Given the description of an element on the screen output the (x, y) to click on. 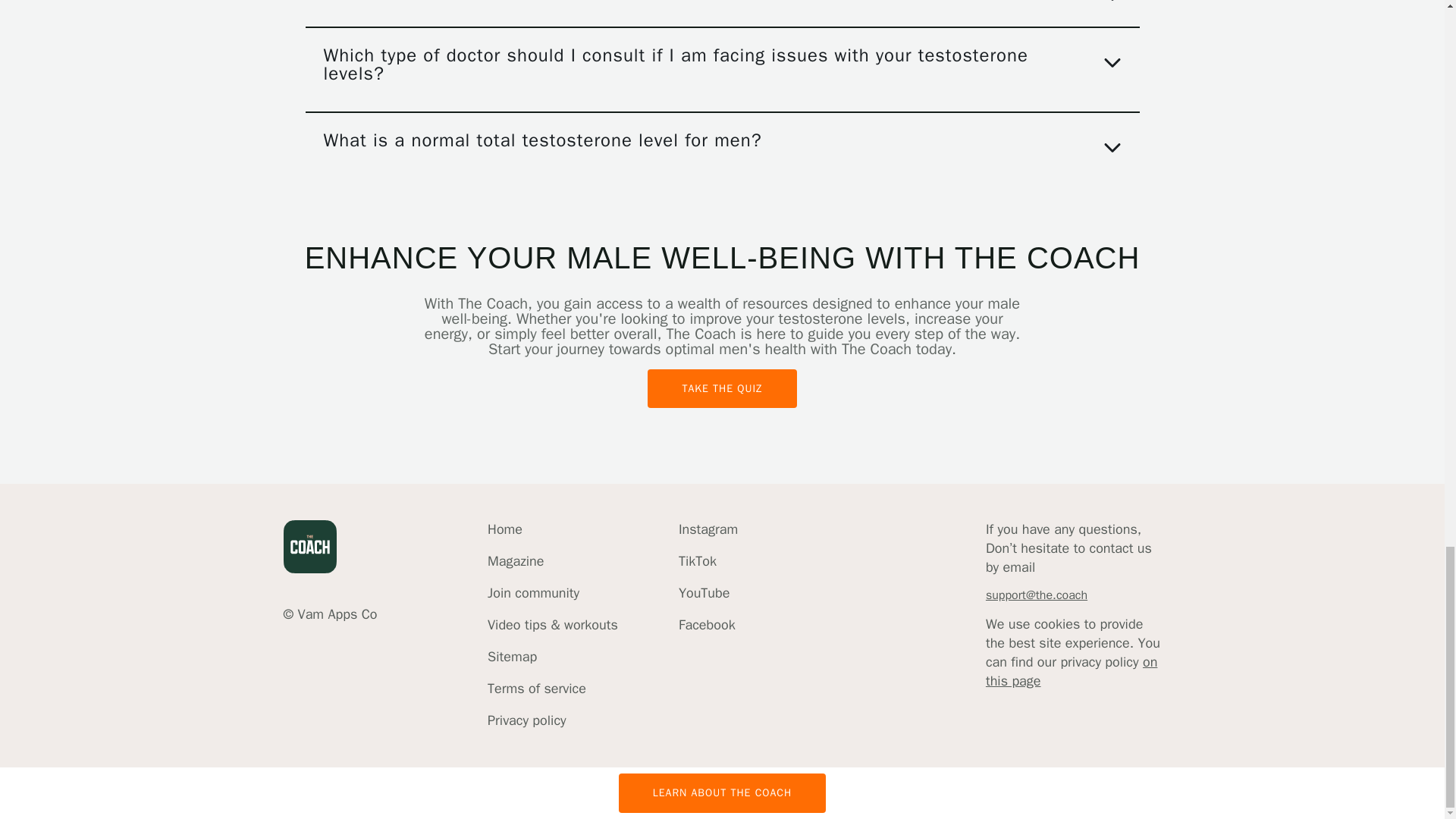
Privacy policy (552, 720)
on this page (1071, 671)
Sitemap (552, 656)
Instagram (708, 529)
Facebook (708, 624)
Join community (552, 592)
Magazine (552, 561)
YouTube (708, 592)
TikTok (708, 561)
Terms of service (552, 688)
